Given the description of an element on the screen output the (x, y) to click on. 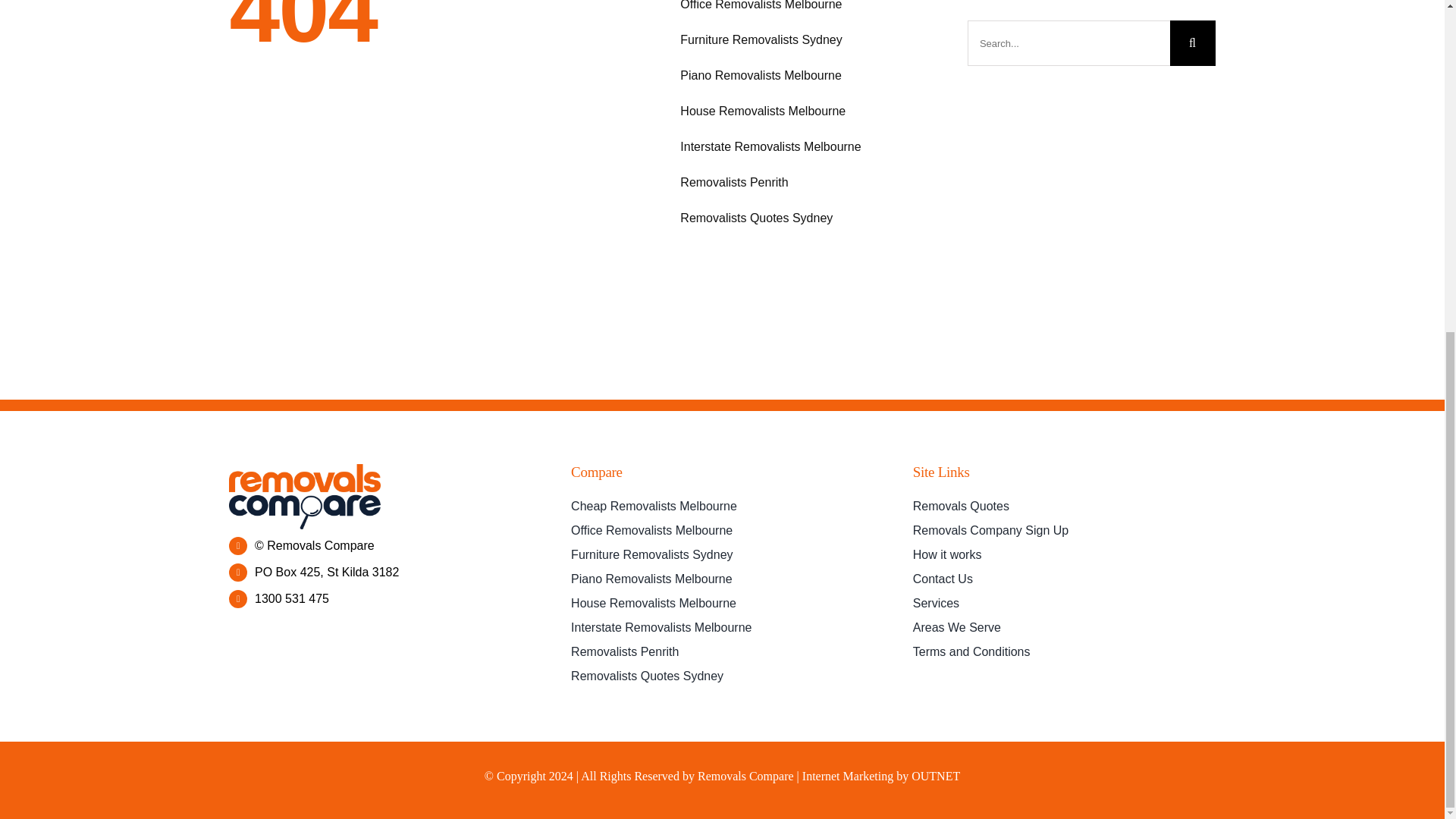
Furniture Removalists Sydney (803, 39)
House Removalists Melbourne (721, 603)
Office Removalists Melbourne (803, 8)
Contact Us (1063, 579)
How it works (1063, 554)
Removals Quotes (1063, 506)
Piano Removalists Melbourne (721, 579)
Cheap Removalists Melbourne (721, 506)
Removalists Penrith (803, 182)
1300 531 475 (291, 598)
Services (1063, 603)
Removals Company Sign Up (1063, 530)
Interstate Removalists Melbourne (721, 627)
Interstate Removalists Melbourne (803, 146)
Furniture Removalists Sydney (721, 554)
